Given the description of an element on the screen output the (x, y) to click on. 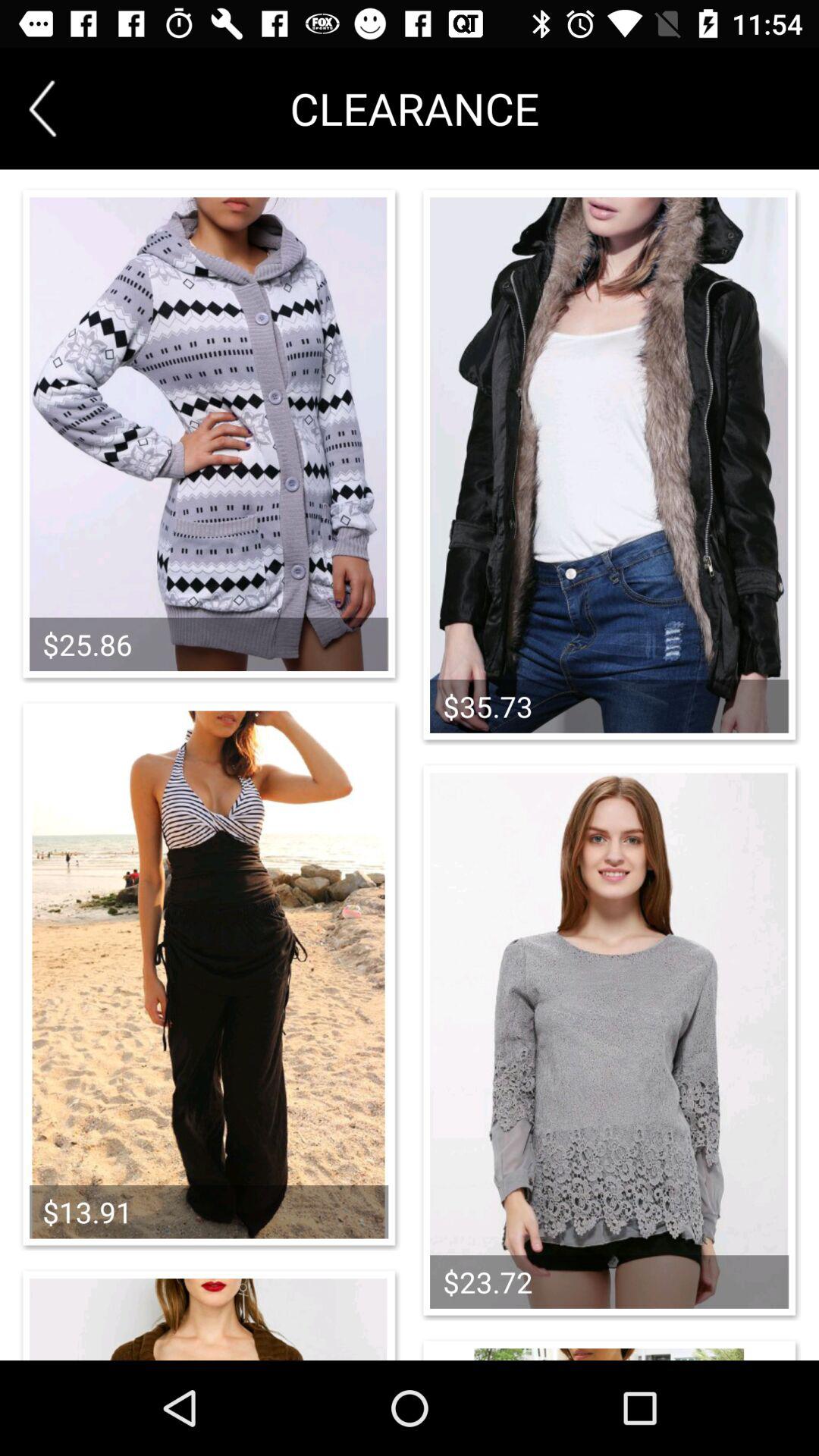
turn on item next to clearance (42, 108)
